Given the description of an element on the screen output the (x, y) to click on. 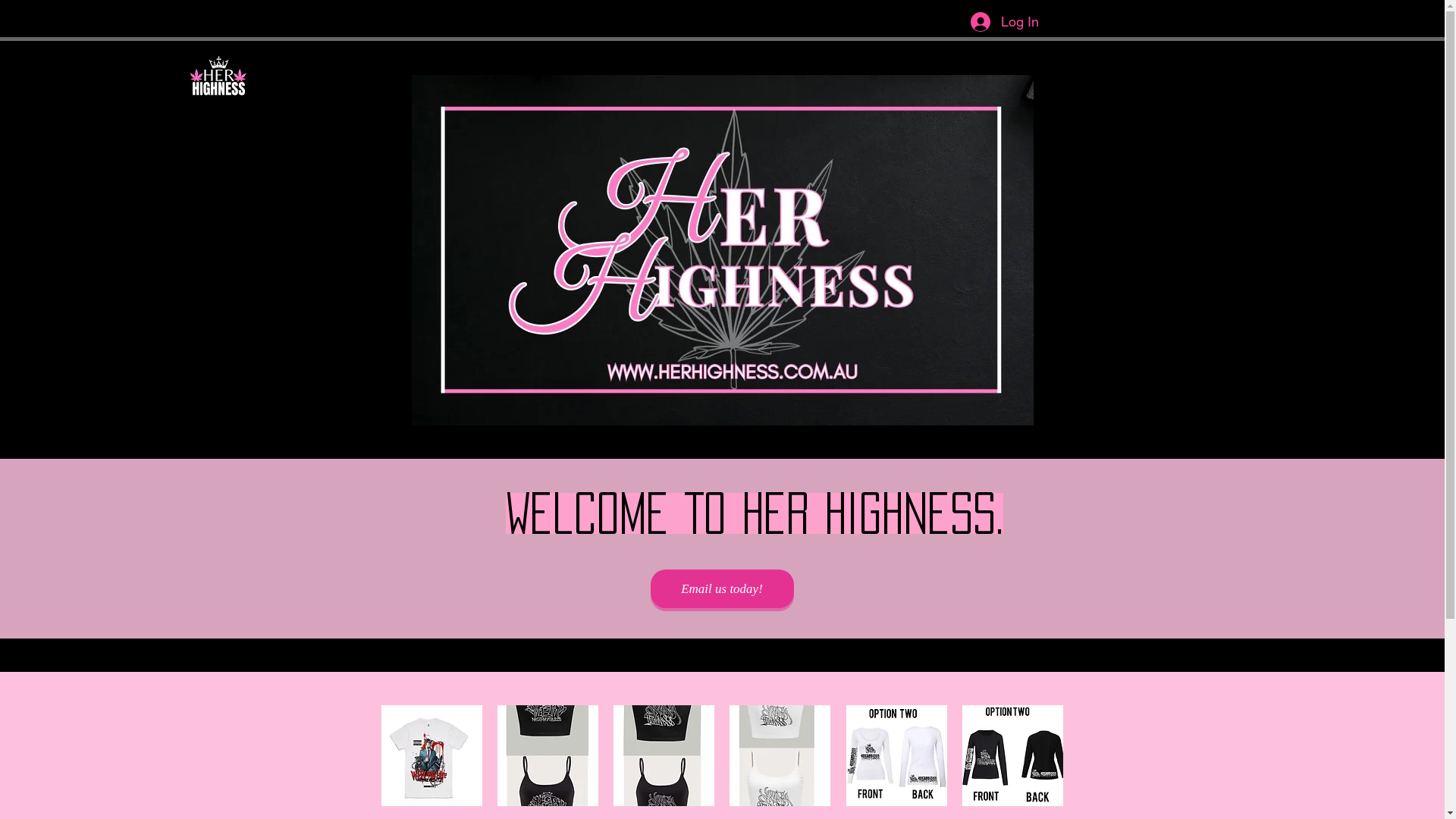
Log In Element type: text (1004, 21)
Email us today! Element type: text (721, 588)
